Given the description of an element on the screen output the (x, y) to click on. 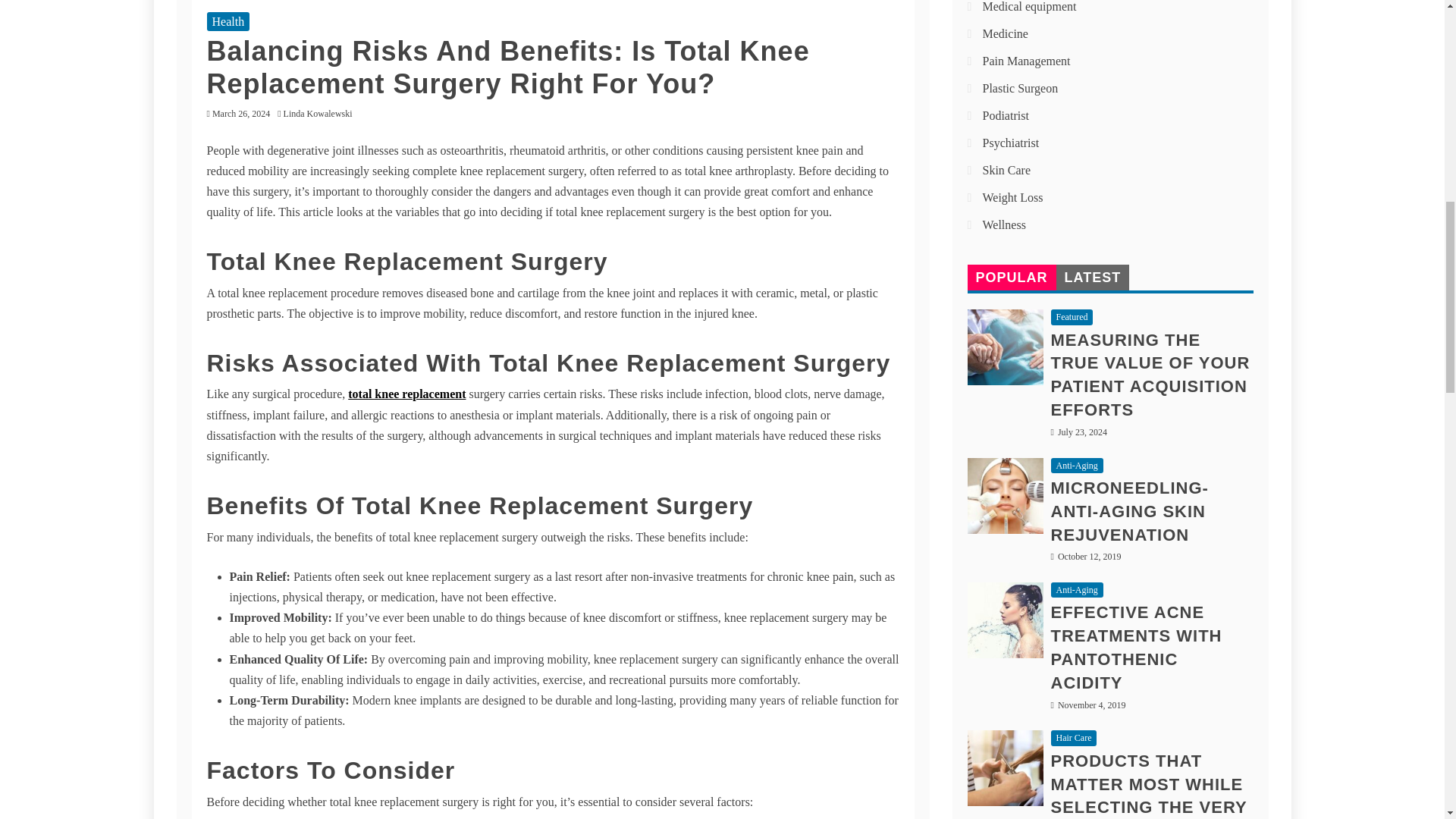
Health (227, 21)
total knee replacement (406, 393)
March 26, 2024 (240, 113)
Linda Kowalewski (321, 113)
